Given the description of an element on the screen output the (x, y) to click on. 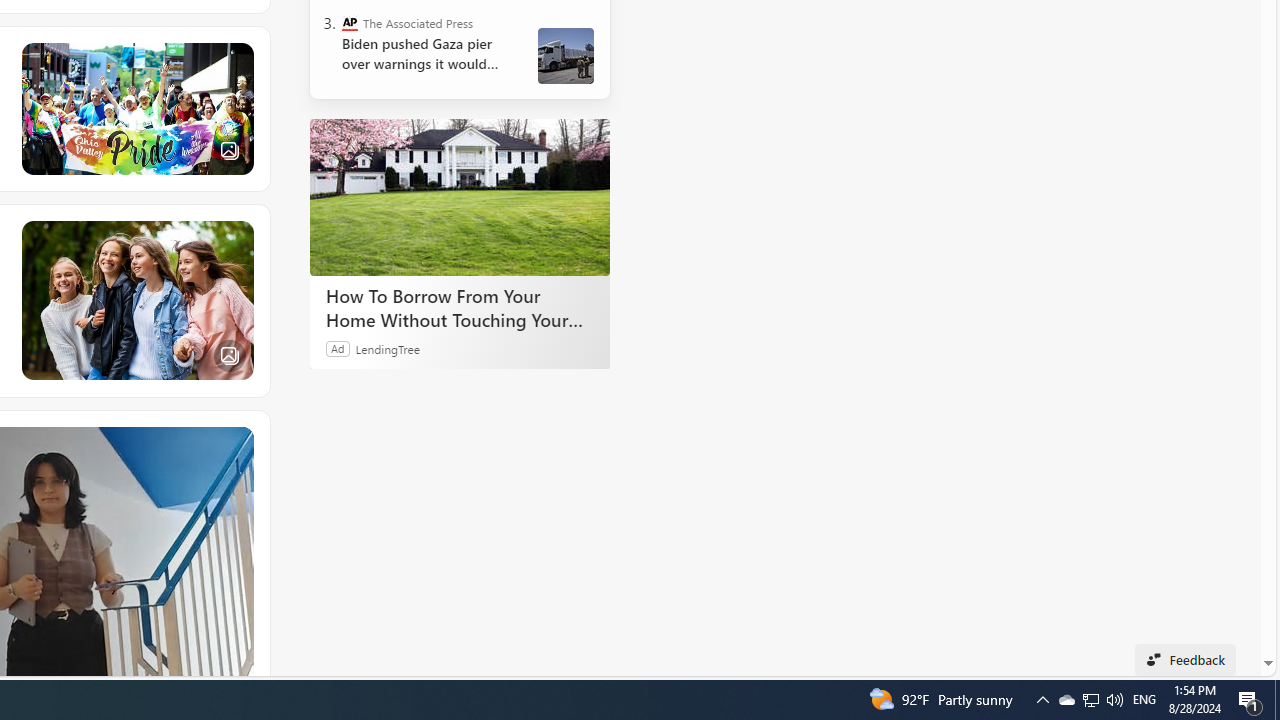
LendingTree (387, 348)
Feedback (1185, 659)
See more (239, 440)
How To Borrow From Your Home Without Touching Your Mortgage (459, 196)
How To Borrow From Your Home Without Touching Your Mortgage (459, 307)
Ad (338, 348)
The Associated Press (349, 22)
